Given the description of an element on the screen output the (x, y) to click on. 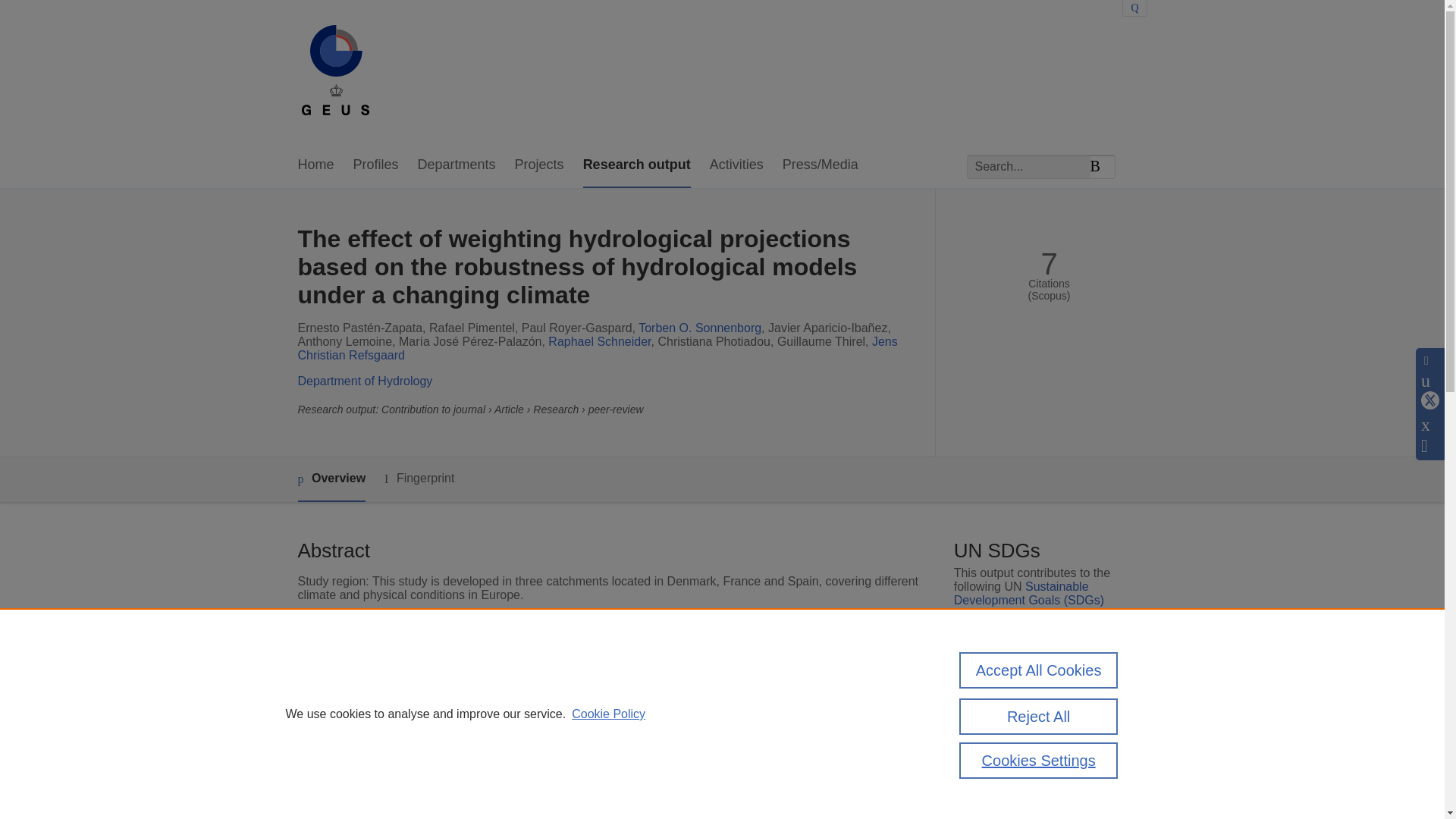
Fingerprint (419, 478)
CC BY-NC-ND (1038, 709)
Overview (331, 479)
Activities (736, 165)
Research output (636, 165)
Department of Hydrology (364, 380)
Raphael Schneider (599, 341)
Torben O. Sonnenborg (700, 327)
Projects (539, 165)
